Given the description of an element on the screen output the (x, y) to click on. 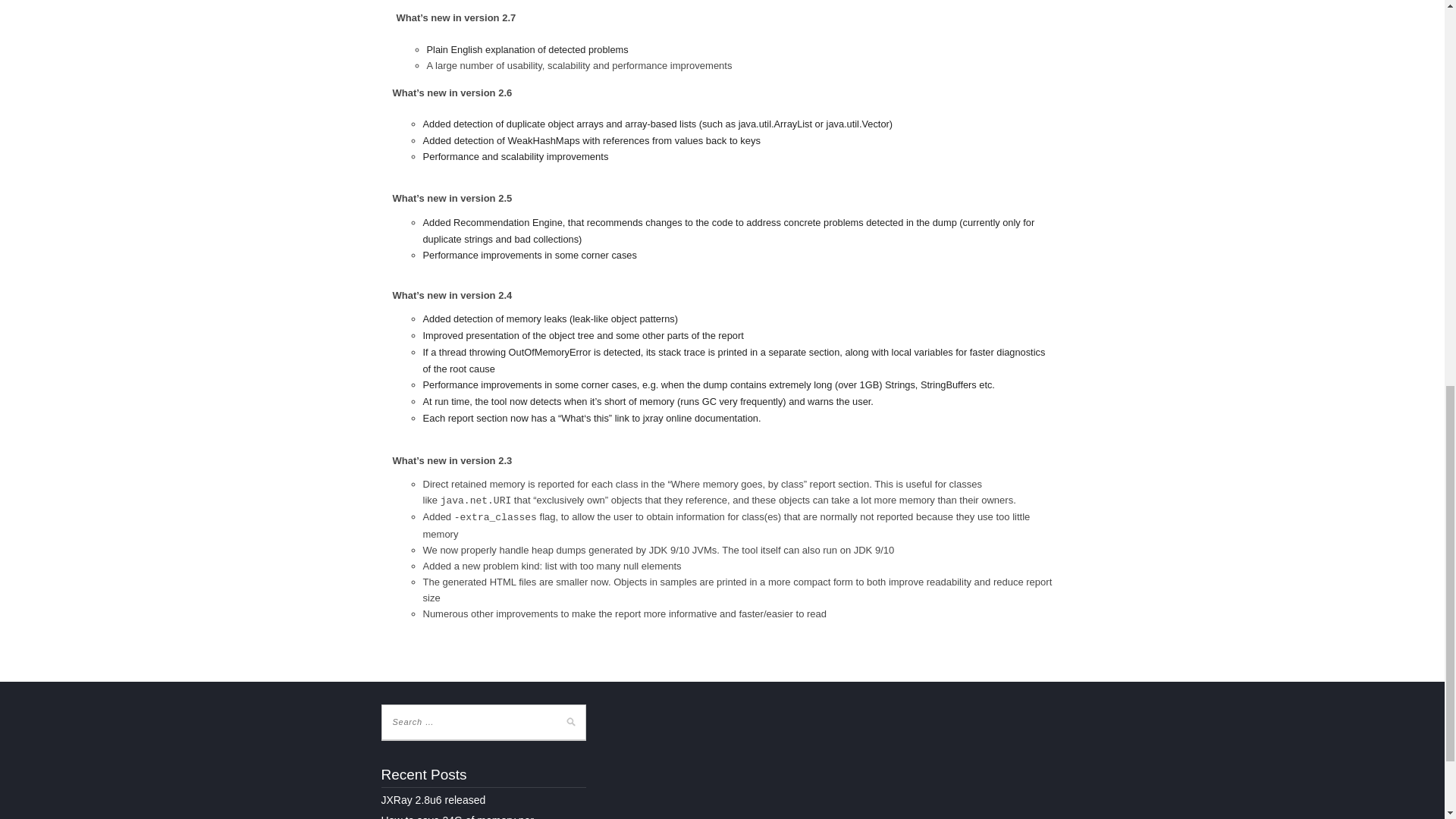
How to save 24G of memory per application instance (457, 816)
JXRay 2.8u6 released (432, 799)
